Given the description of an element on the screen output the (x, y) to click on. 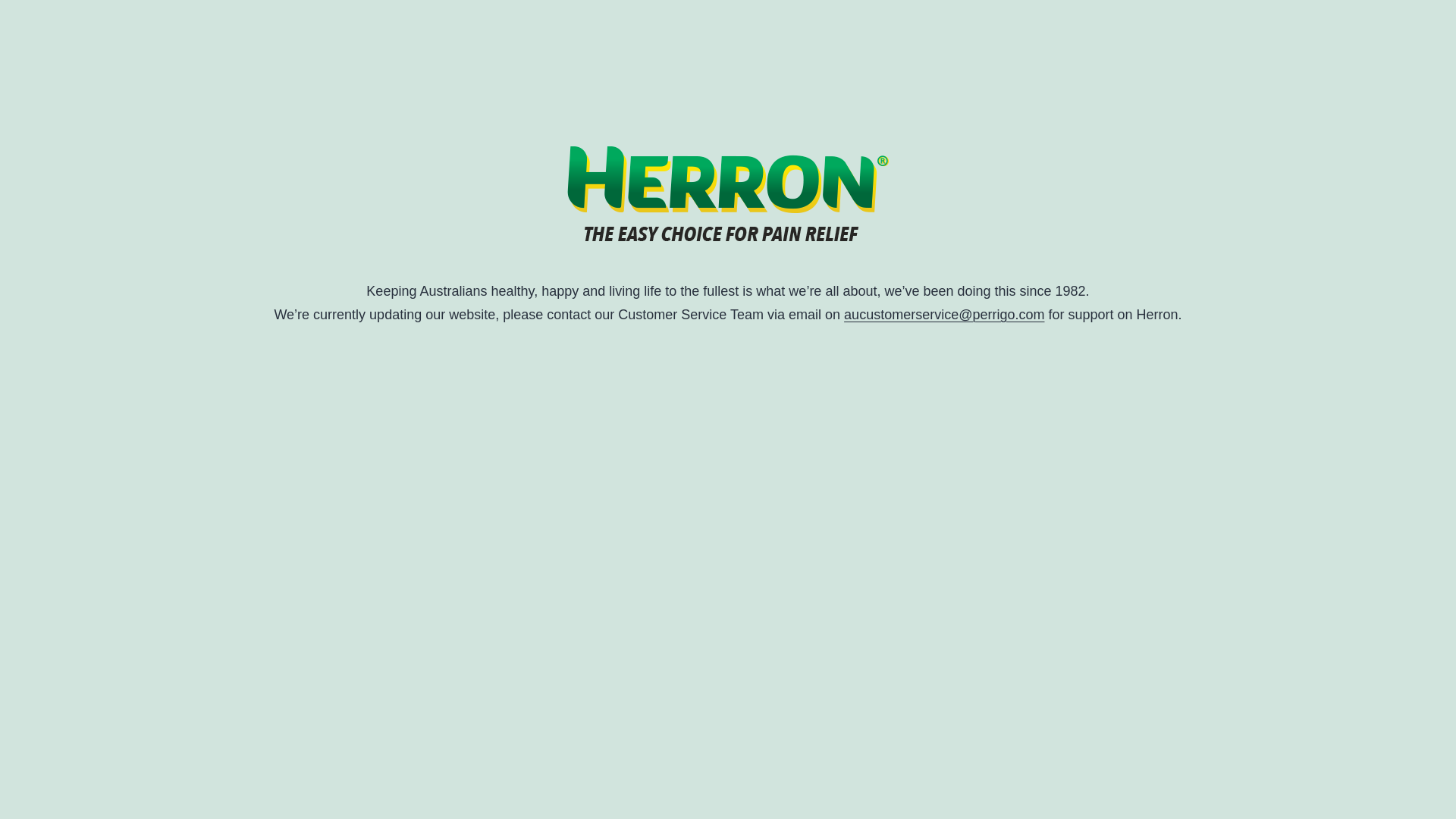
aucustomerservice@perrigo.com Element type: text (944, 314)
